Given the description of an element on the screen output the (x, y) to click on. 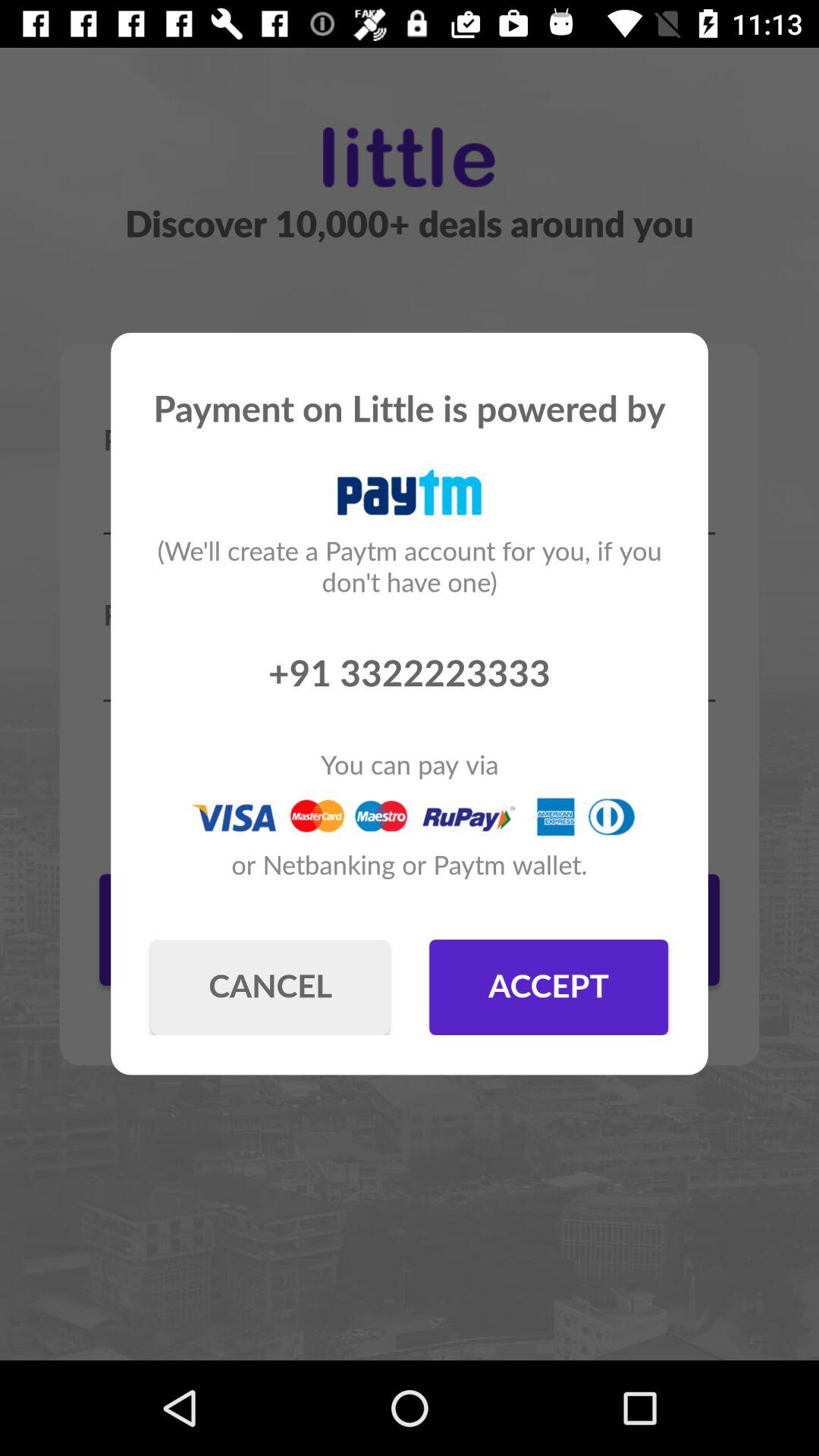
select accept button (548, 987)
